Given the description of an element on the screen output the (x, y) to click on. 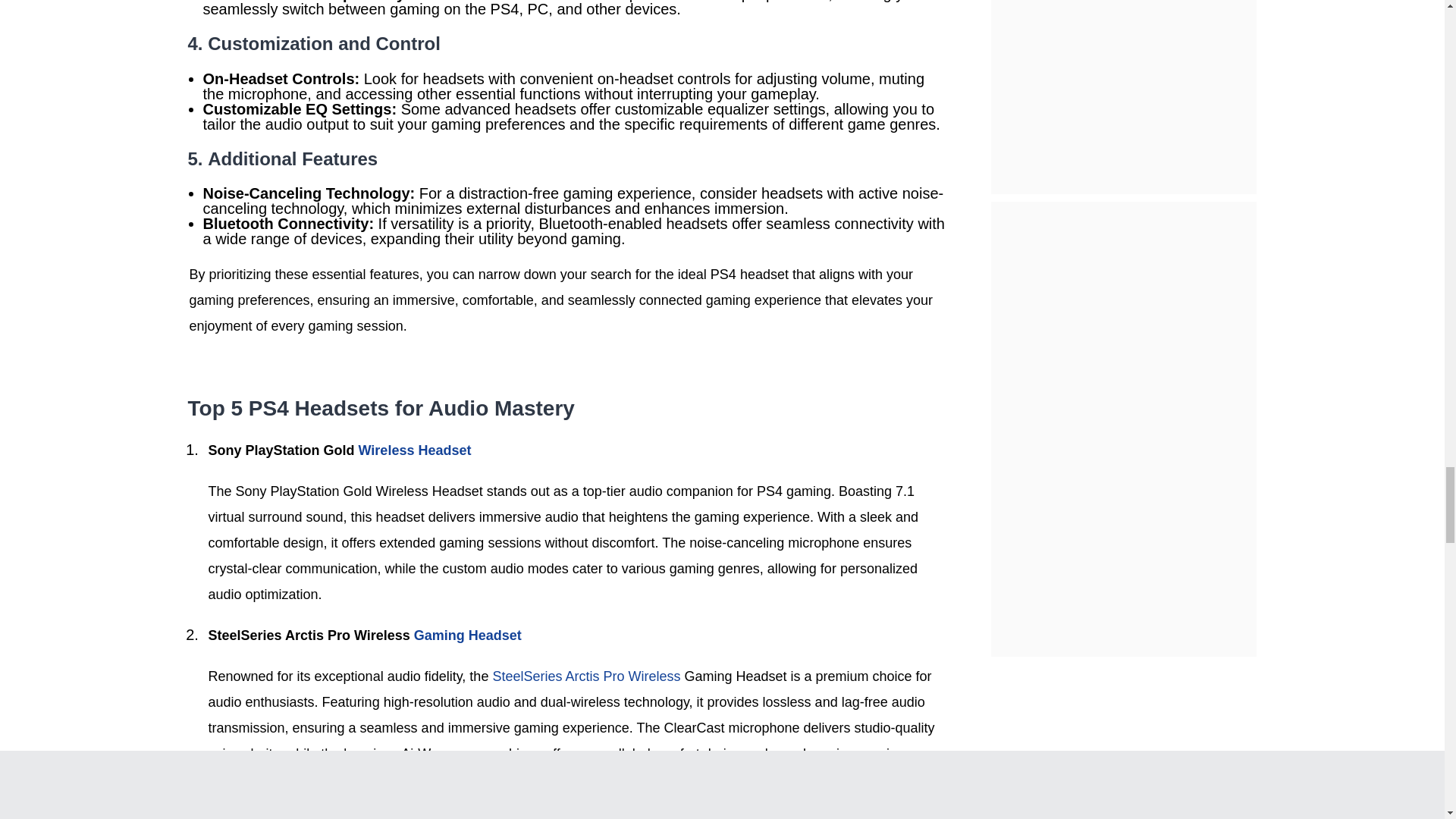
Wireless Headset (414, 450)
Gaming Headset (467, 635)
